Given the description of an element on the screen output the (x, y) to click on. 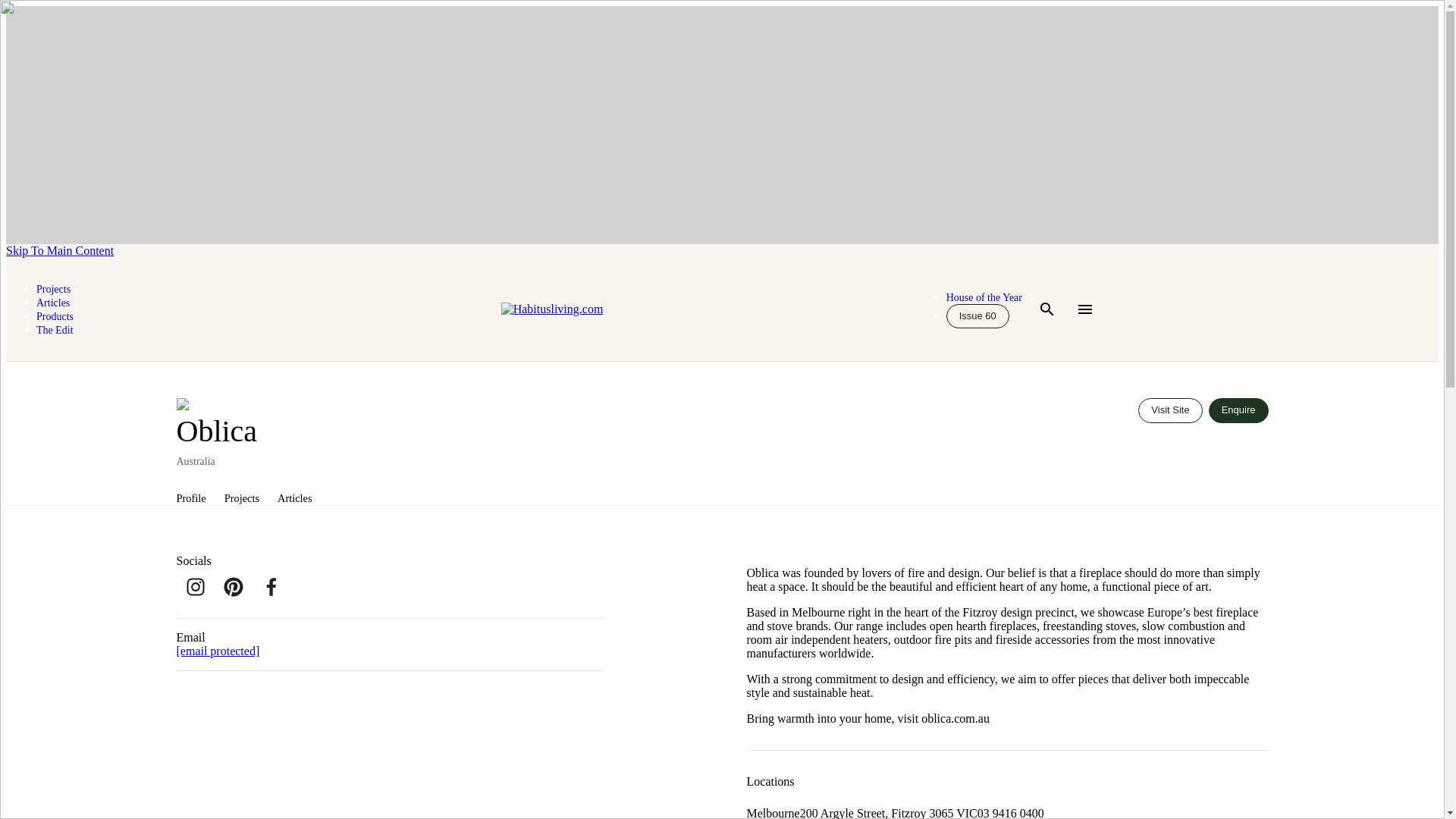
Profile (190, 498)
House of the Year (984, 296)
Skip To Main Content (59, 250)
Enquire (1238, 410)
Articles (295, 498)
Projects (241, 498)
The Edit (55, 329)
Projects (52, 288)
Products (55, 316)
Visit Site (1170, 410)
Issue 60 (977, 316)
Articles (52, 302)
